Given the description of an element on the screen output the (x, y) to click on. 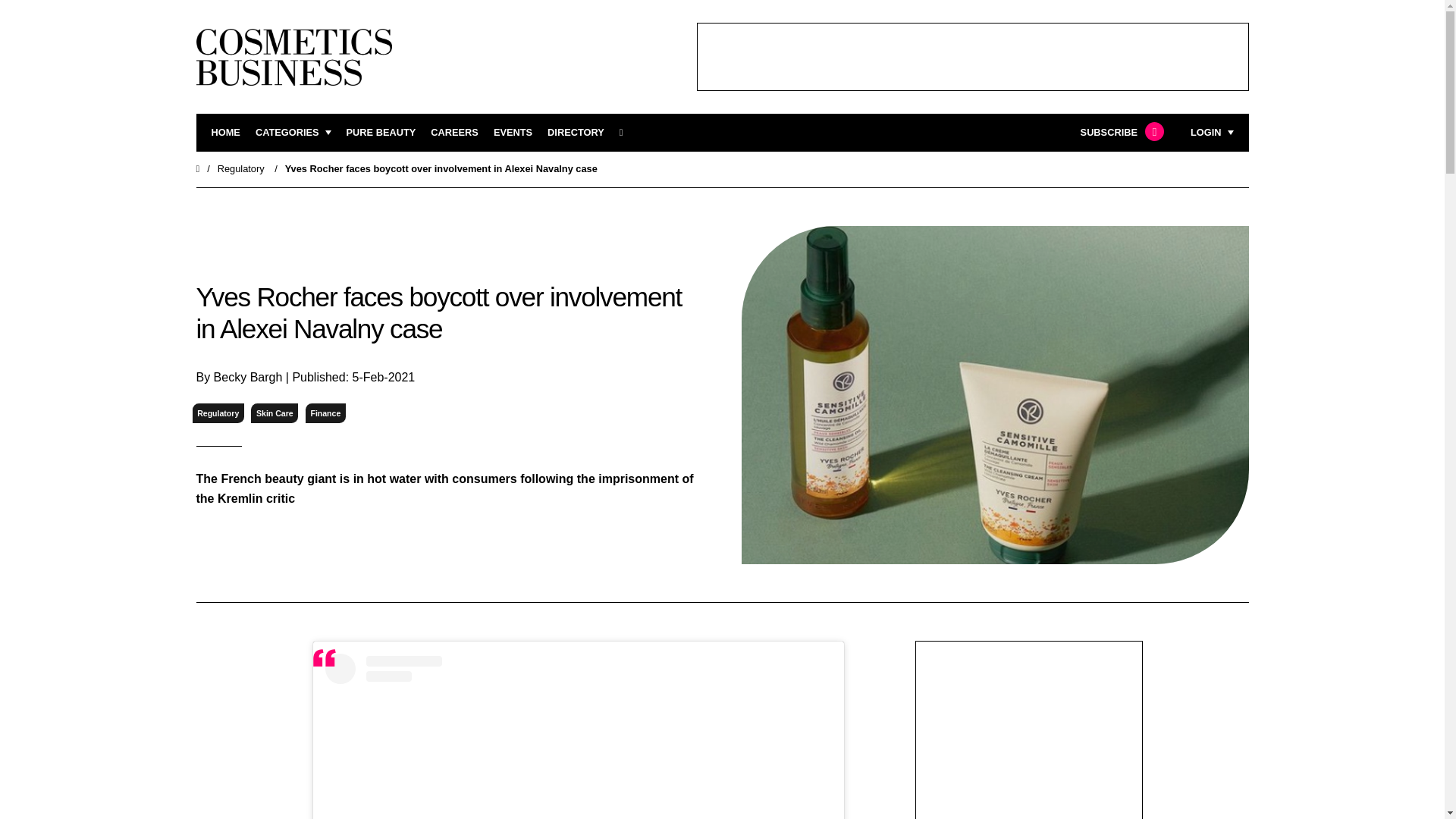
Regulatory (240, 168)
Skin Care (274, 413)
CAREERS (454, 133)
DIRECTORY (575, 133)
LOGIN (1212, 133)
View this post on Instagram (577, 736)
CATEGORIES (293, 133)
Regulatory (218, 413)
Pure Beauty (381, 133)
Directory (575, 133)
